Given the description of an element on the screen output the (x, y) to click on. 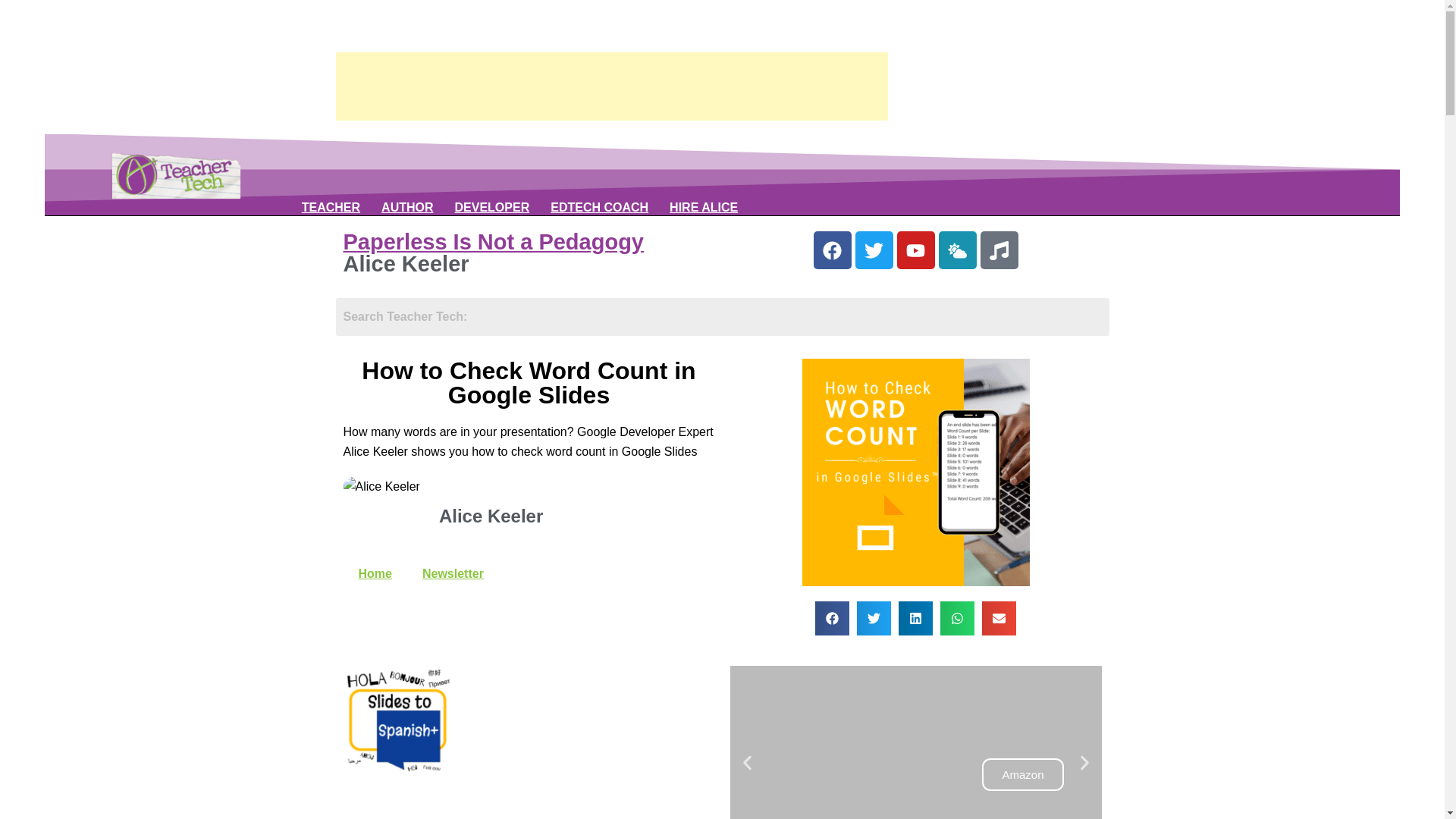
Search (721, 316)
DEVELOPER (491, 207)
TEACHER (330, 207)
Books (406, 207)
AUTHOR (406, 207)
